Given the description of an element on the screen output the (x, y) to click on. 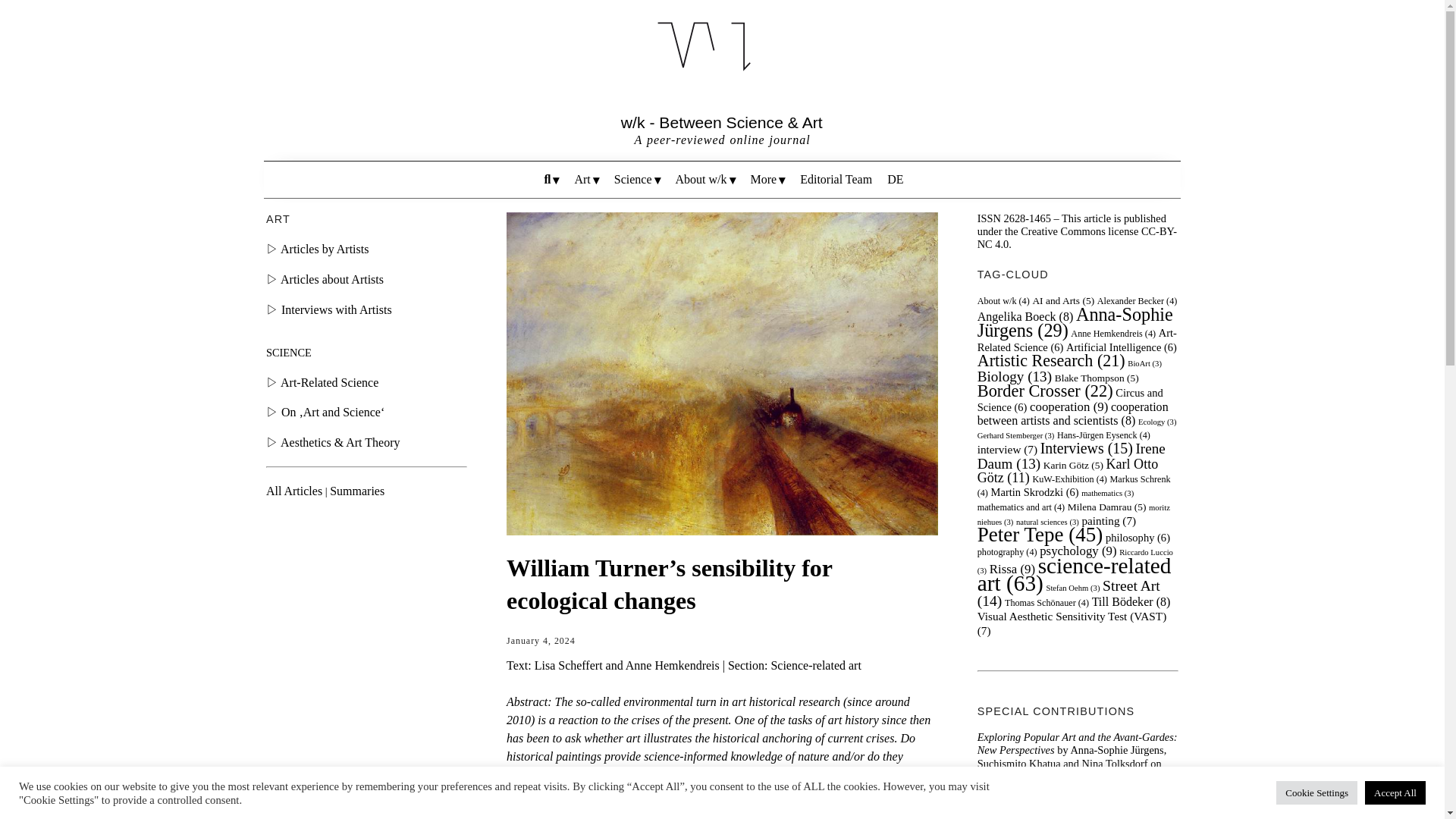
Science (637, 179)
Search (656, 212)
DE (894, 179)
Art (585, 179)
Search (552, 179)
More (767, 179)
